Given the description of an element on the screen output the (x, y) to click on. 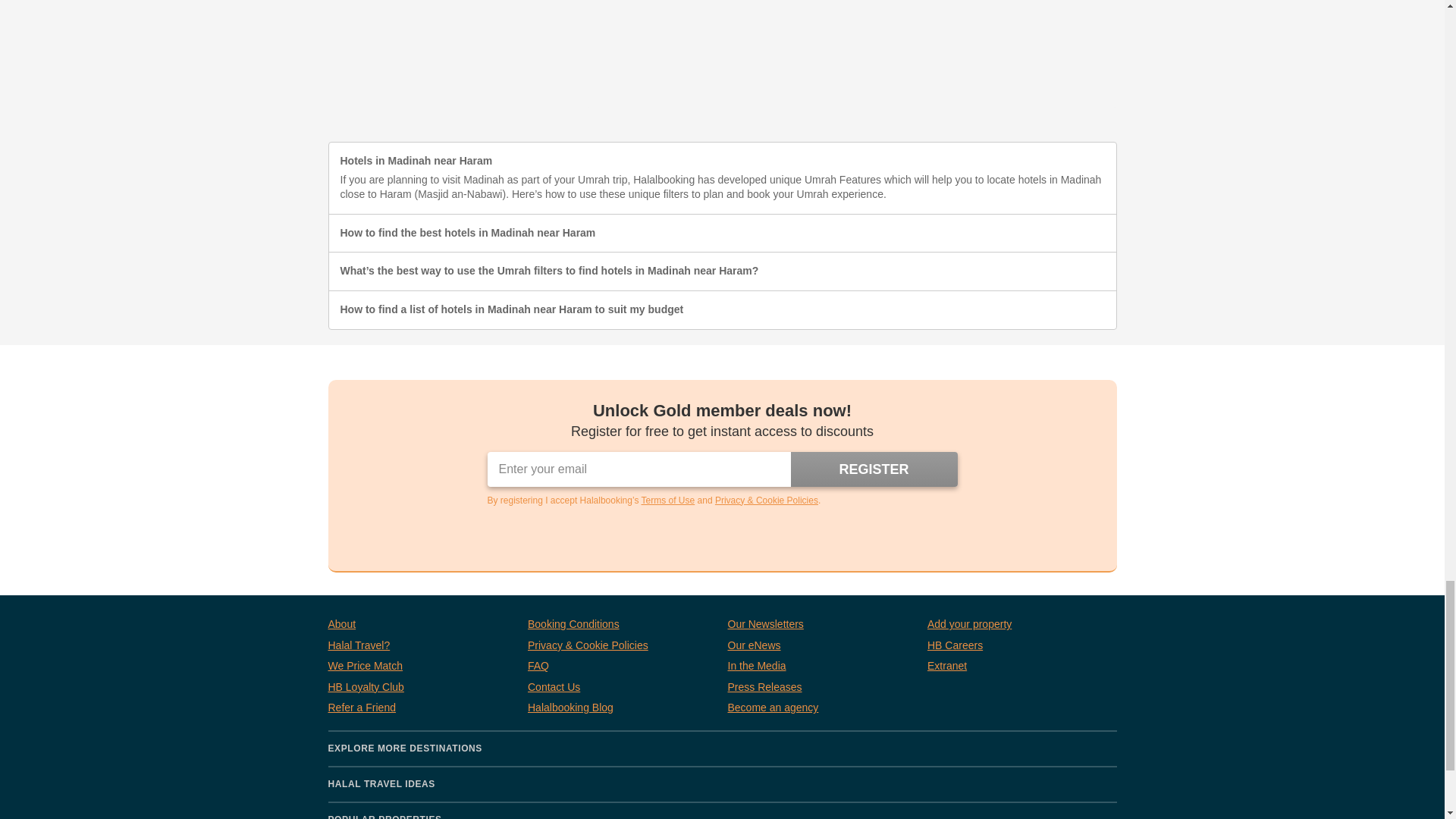
Add your property (969, 624)
Terms of Use (668, 500)
About (341, 624)
In the Media (757, 666)
Our eNews (754, 645)
Extranet (946, 666)
Become an agency (773, 707)
Press Releases (765, 687)
HB Careers (954, 645)
We Price Match (365, 666)
HB Loyalty Club (365, 687)
Halal Travel? (358, 645)
REGISTER (873, 469)
Our Newsletters (765, 624)
FAQ (537, 666)
